Given the description of an element on the screen output the (x, y) to click on. 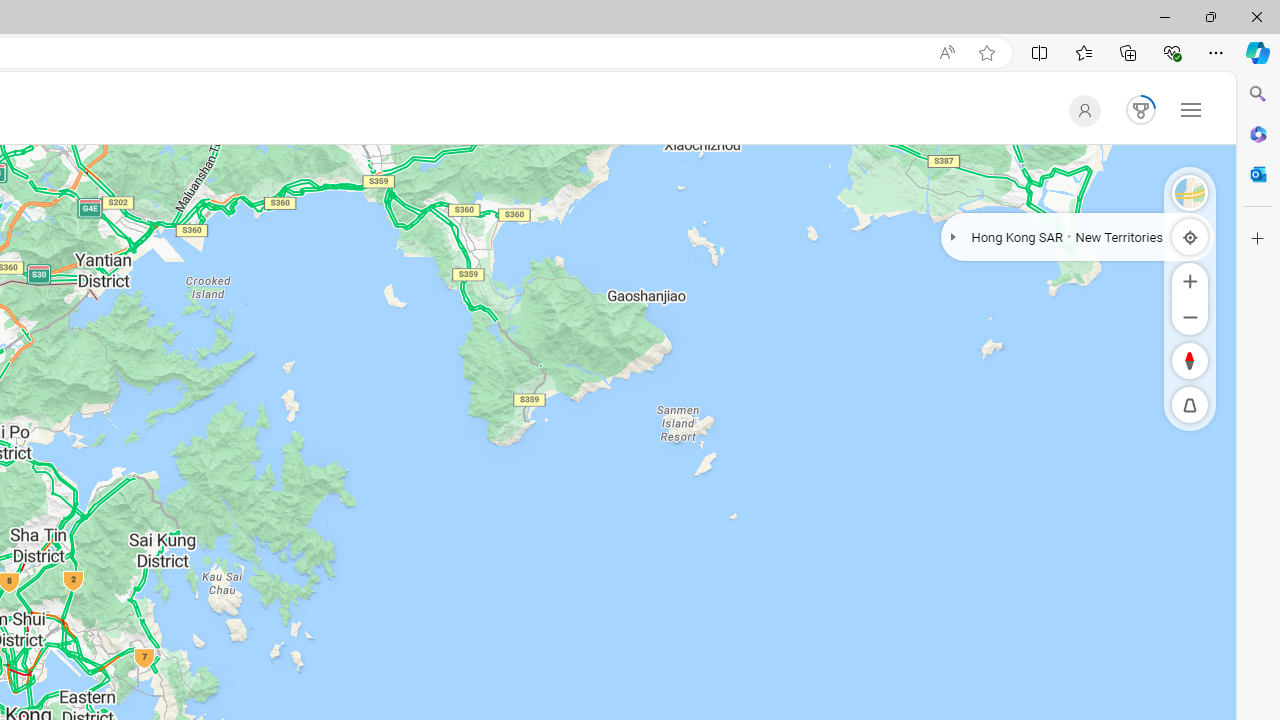
Road (1190, 192)
Settings and quick links (1190, 109)
